Given the description of an element on the screen output the (x, y) to click on. 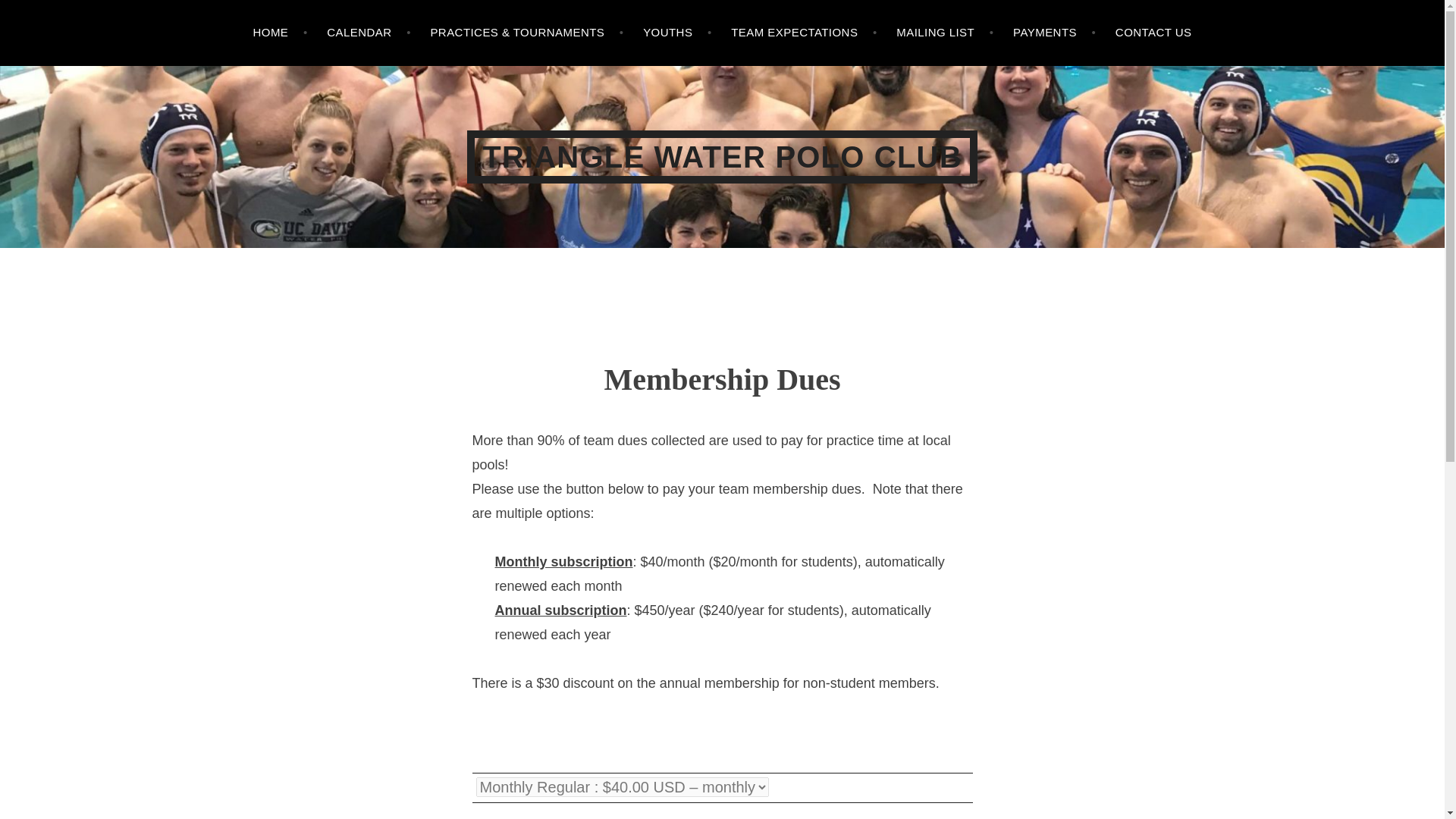
PAYMENTS (1054, 32)
TEAM EXPECTATIONS (803, 32)
YOUTHS (677, 32)
TRIANGLE WATER POLO CLUB (721, 156)
CONTACT US (1153, 32)
HOME (280, 32)
MAILING LIST (944, 32)
CALENDAR (368, 32)
